Given the description of an element on the screen output the (x, y) to click on. 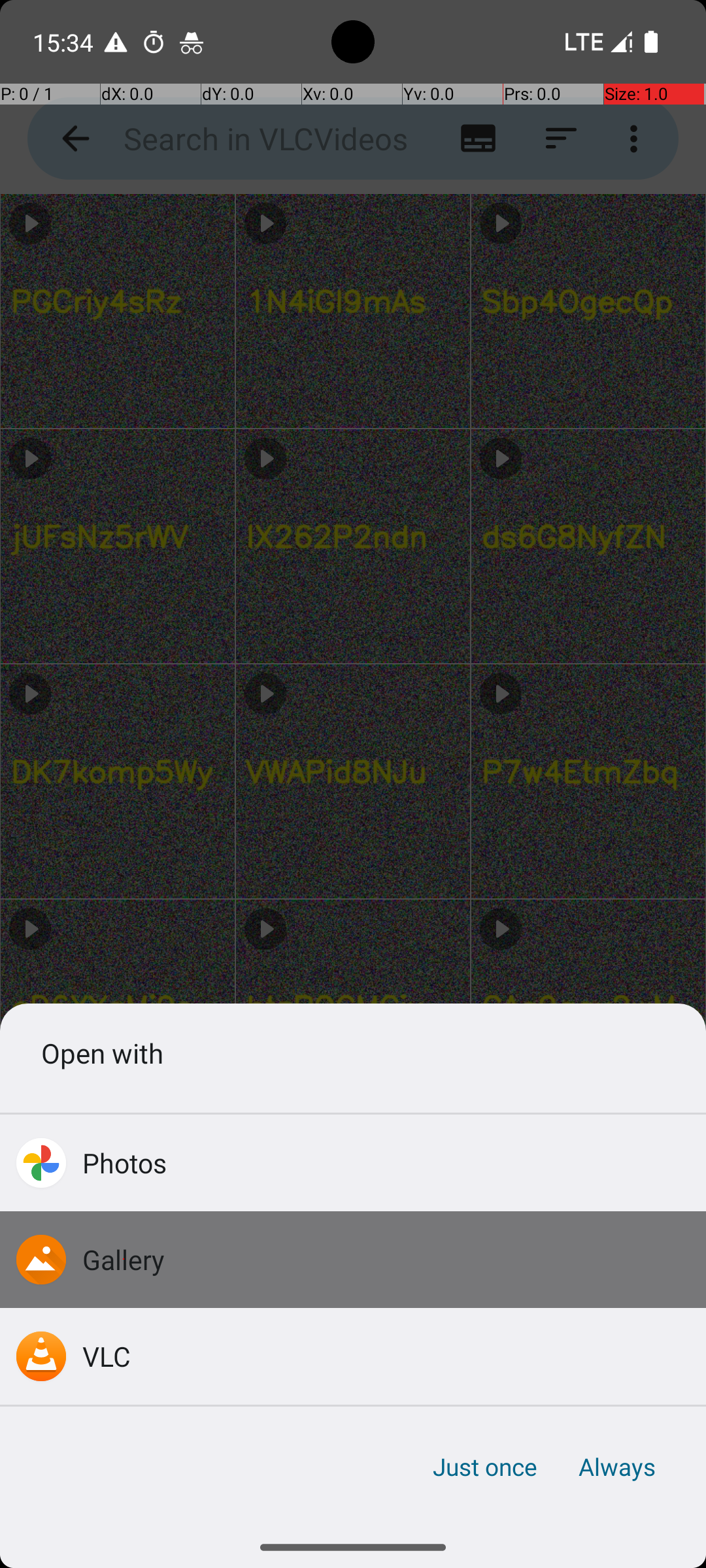
Open with Element type: android.widget.TextView (352, 1052)
Just once Element type: android.widget.Button (484, 1466)
Always Element type: android.widget.Button (616, 1466)
